Given the description of an element on the screen output the (x, y) to click on. 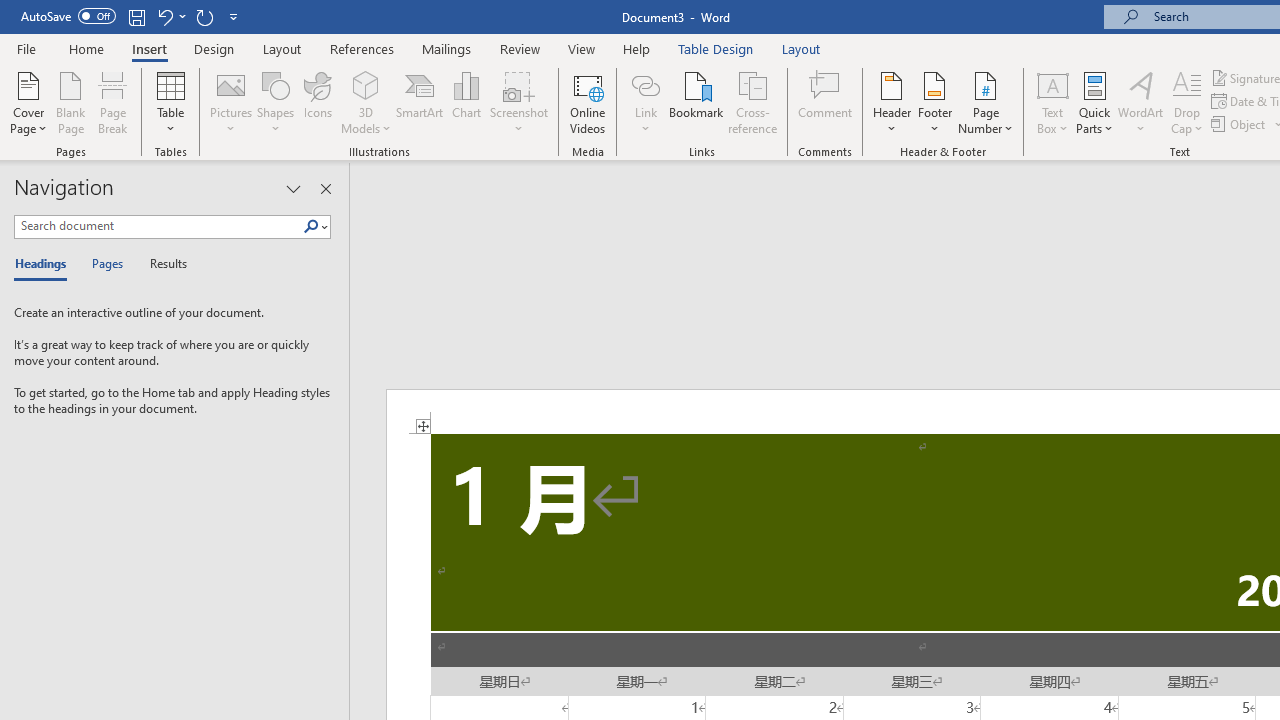
3D Models (366, 84)
Screenshot (518, 102)
Table (170, 102)
Cover Page (28, 102)
View (582, 48)
Link (645, 102)
Close pane (325, 188)
Results (161, 264)
Cross-reference... (752, 102)
Chart... (466, 102)
Undo Increase Indent (164, 15)
Headings (45, 264)
References (362, 48)
